Given the description of an element on the screen output the (x, y) to click on. 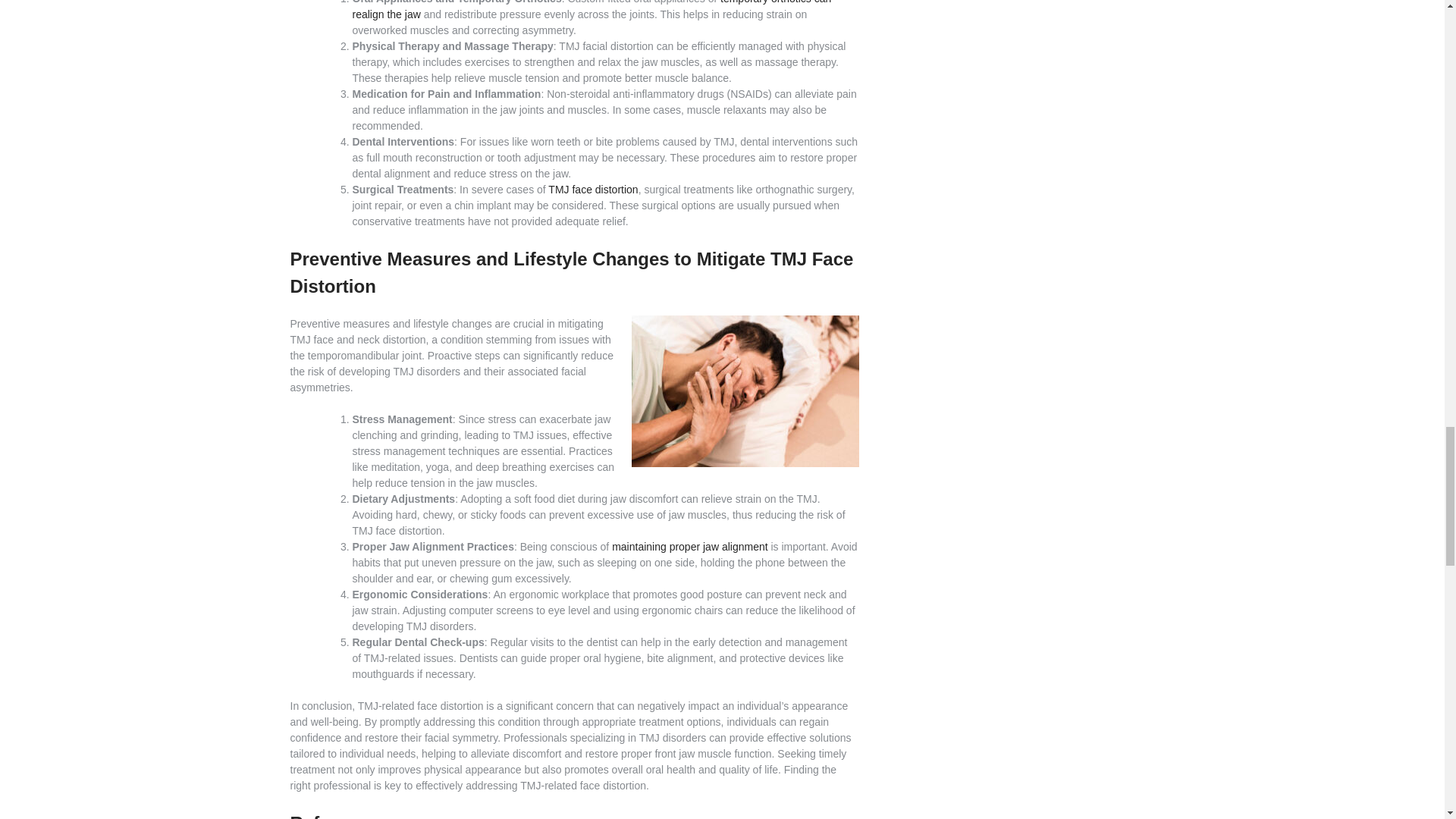
maintaining proper jaw alignment (689, 546)
temporary orthotics can realign the jaw (591, 10)
TMJ face distortion (592, 189)
